Given the description of an element on the screen output the (x, y) to click on. 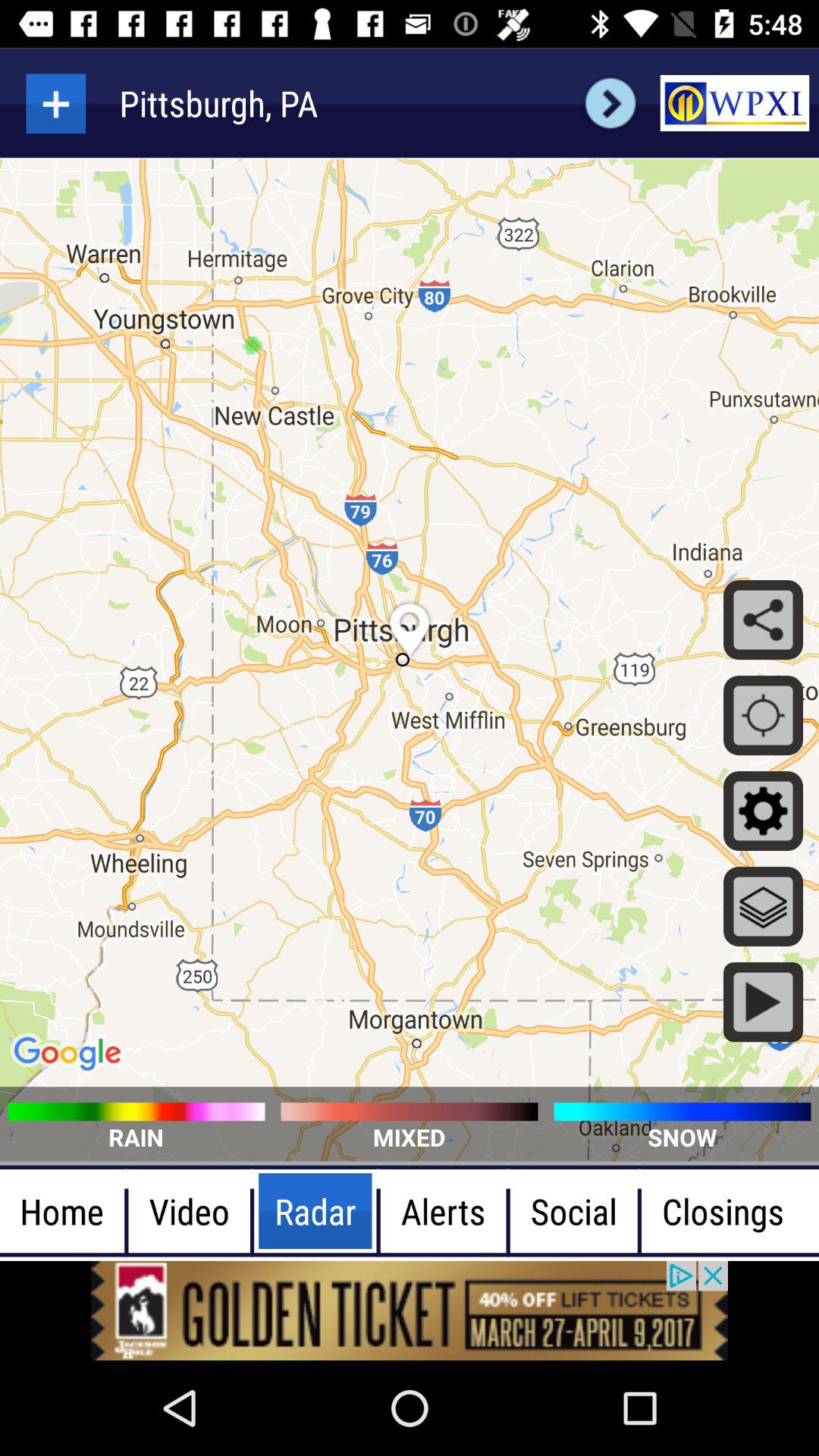
add page (55, 103)
